Given the description of an element on the screen output the (x, y) to click on. 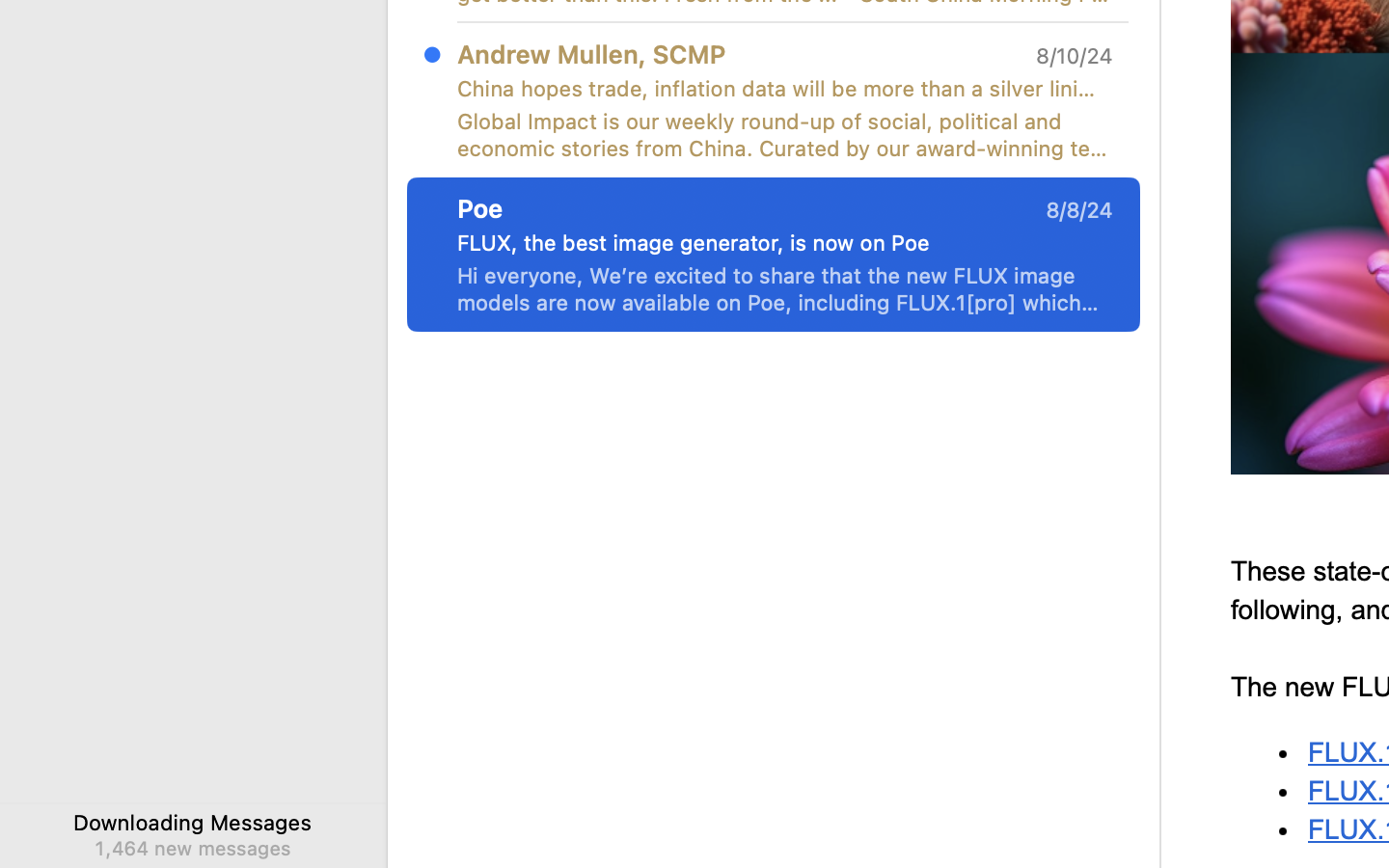
8/8/24 Element type: AXStaticText (1078, 209)
FLUX, the best image generator, is now on Poe Element type: AXStaticText (777, 242)
Junk — Google Element type: AXStaticText (722, 732)
8/10/24 Element type: AXStaticText (1074, 55)
Downloading Messages Element type: AXStaticText (192, 821)
